Given the description of an element on the screen output the (x, y) to click on. 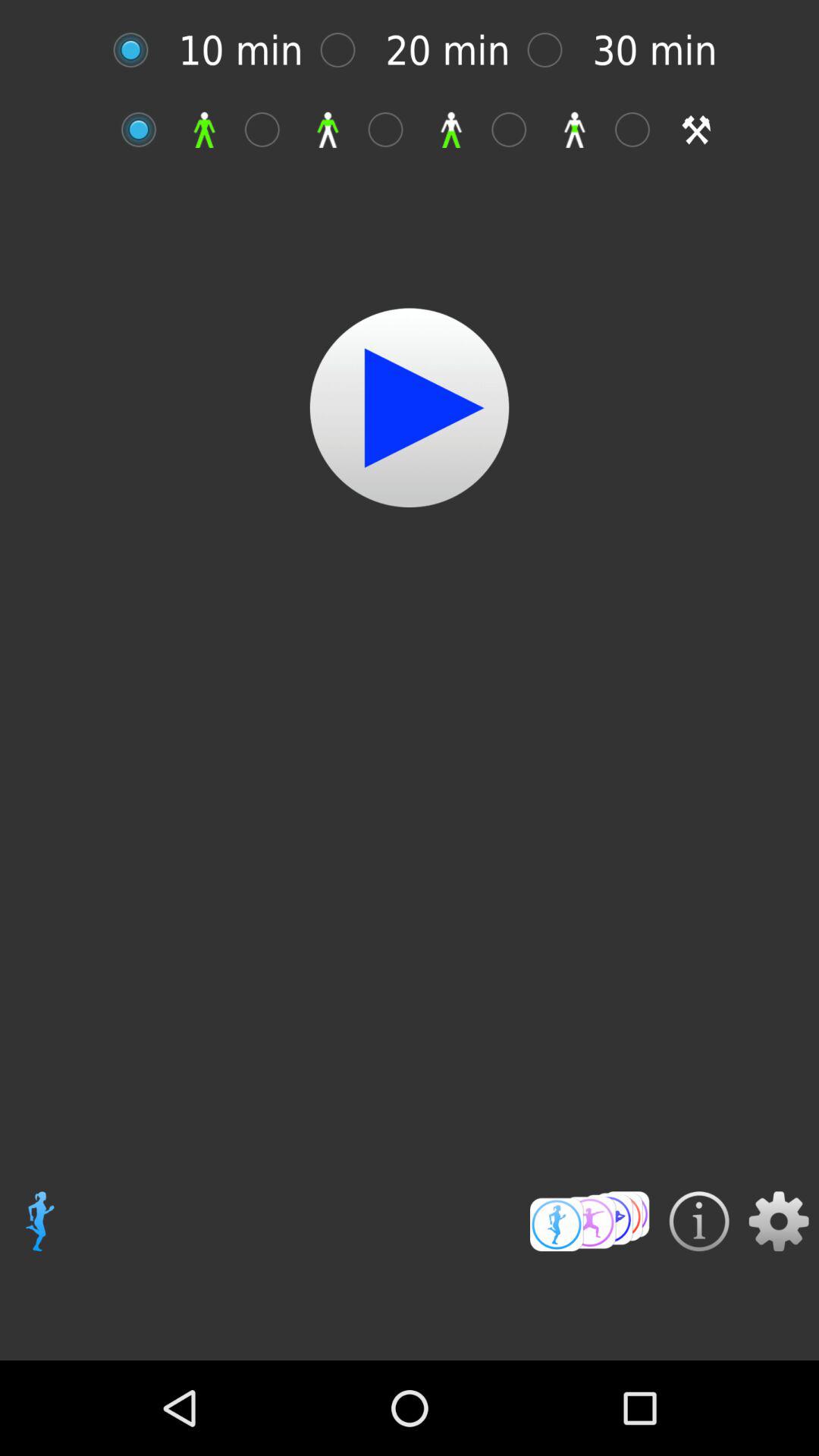
shows play button (409, 407)
